Given the description of an element on the screen output the (x, y) to click on. 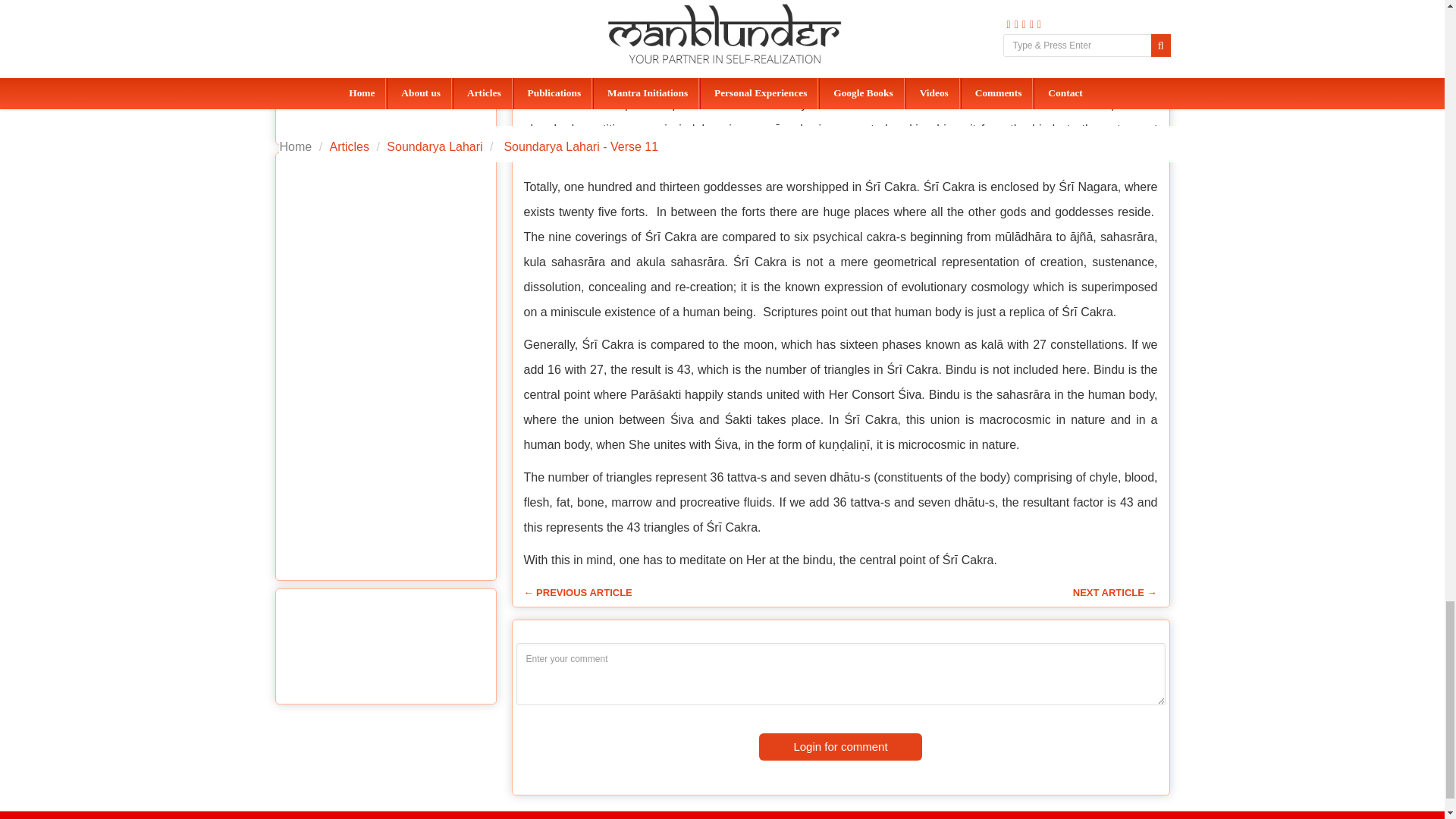
Login for comment (839, 746)
